Given the description of an element on the screen output the (x, y) to click on. 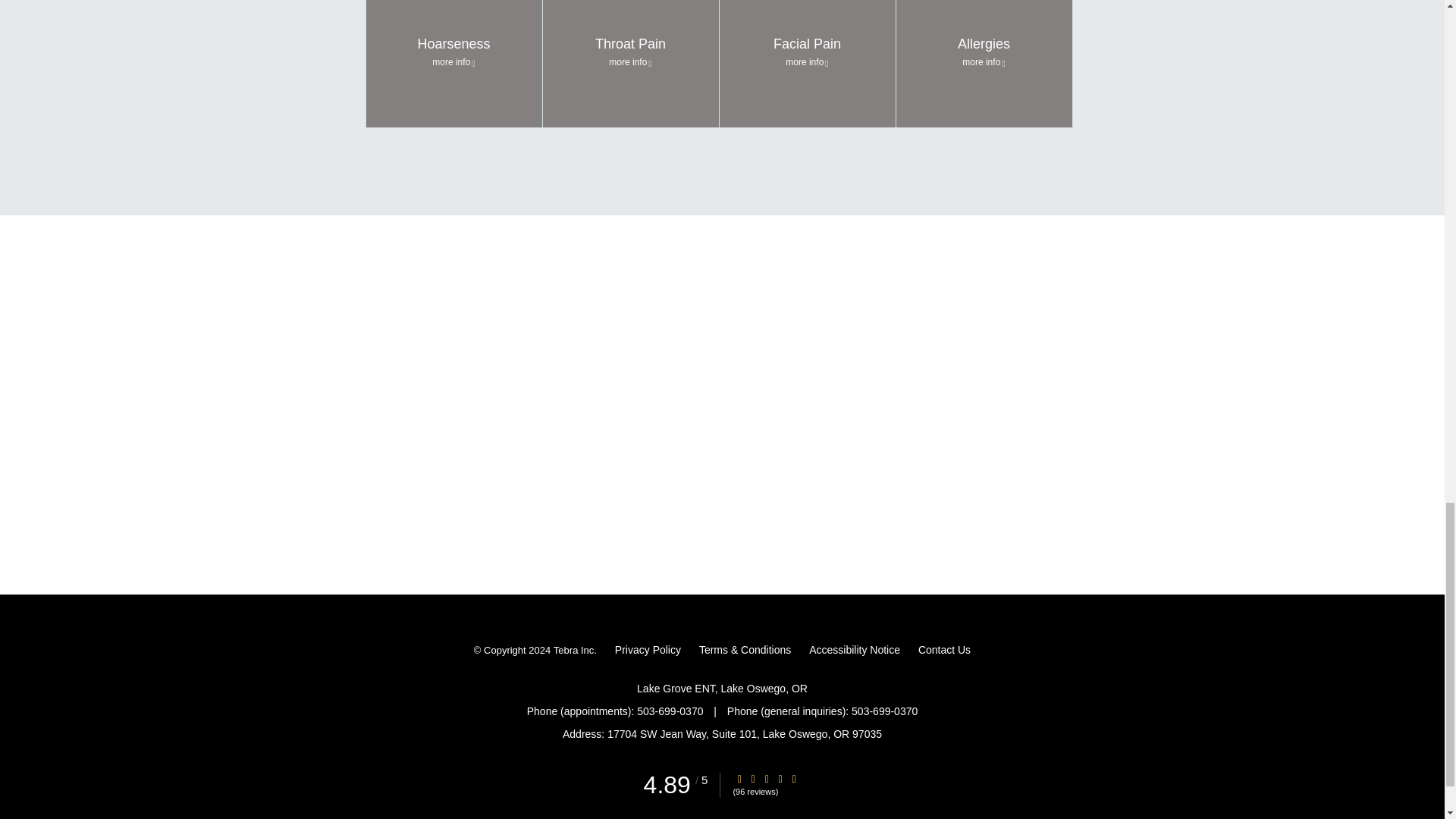
Star Rating (766, 778)
Star Rating (753, 778)
Star Rating (780, 778)
Star Rating (794, 778)
Star Rating (738, 778)
